Given the description of an element on the screen output the (x, y) to click on. 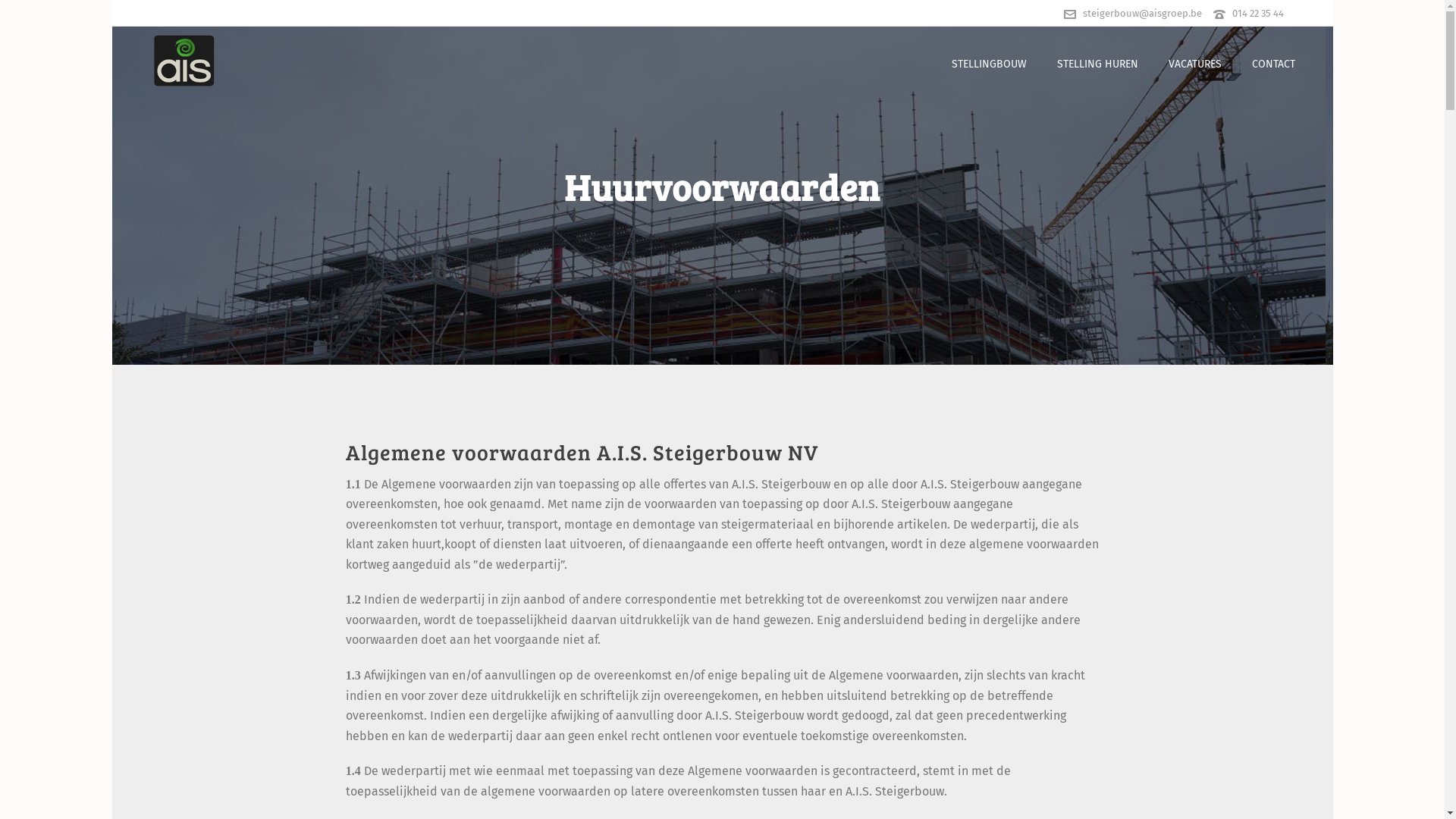
014 22 35 44 Element type: text (1257, 12)
CONTACT Element type: text (1272, 60)
steigerbouw@aisgroep.be Element type: text (1141, 12)
STELLING HUREN Element type: text (1097, 60)
STELLINGBOUW Element type: text (988, 60)
VACATURES Element type: text (1194, 60)
Uw specialist in verhuur van steigers! Element type: hover (184, 60)
